Given the description of an element on the screen output the (x, y) to click on. 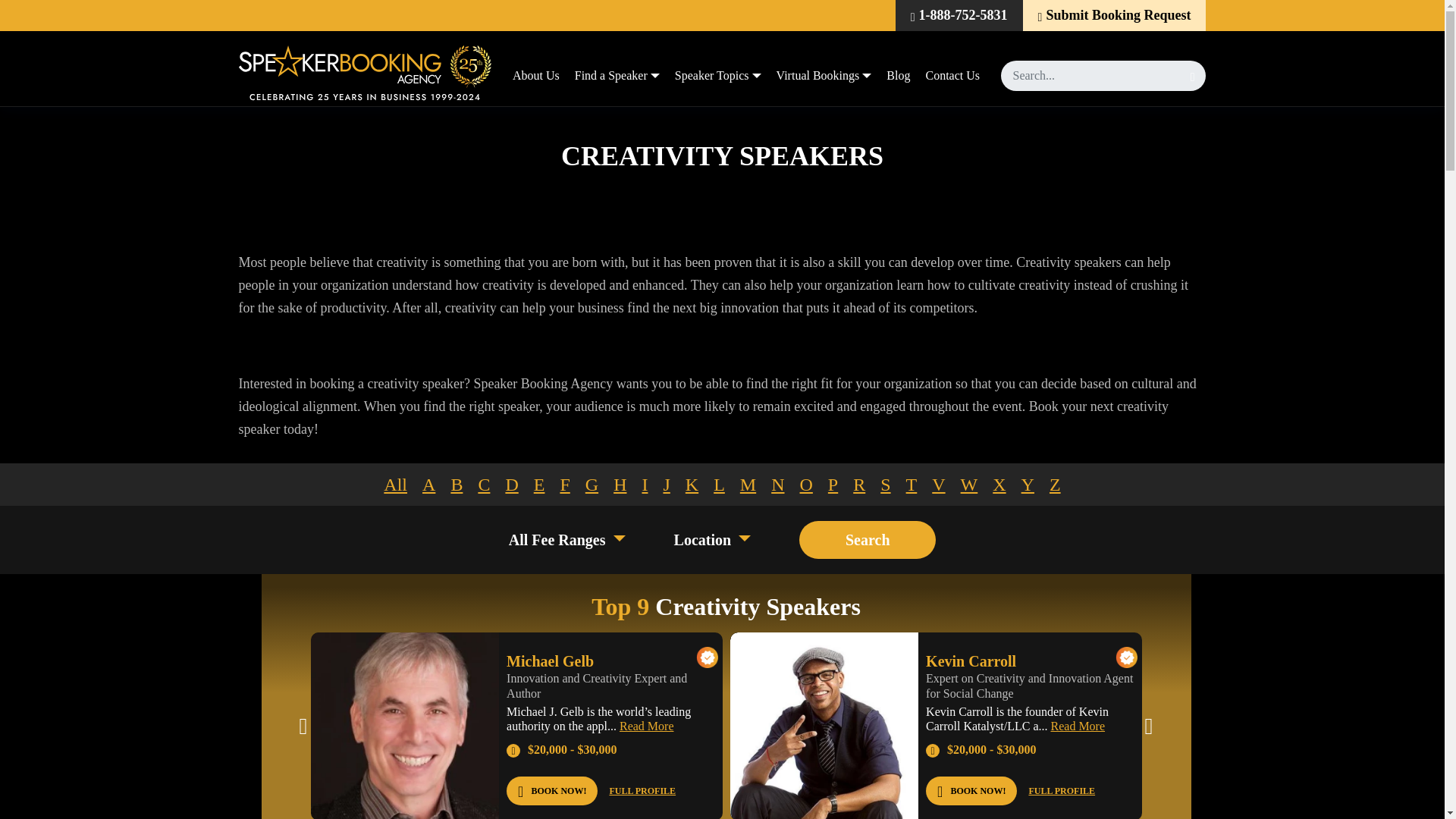
1-888-752-5831 (959, 15)
About Us (536, 75)
Submit Booking Request (1115, 15)
Find a Speaker (616, 75)
